Given the description of an element on the screen output the (x, y) to click on. 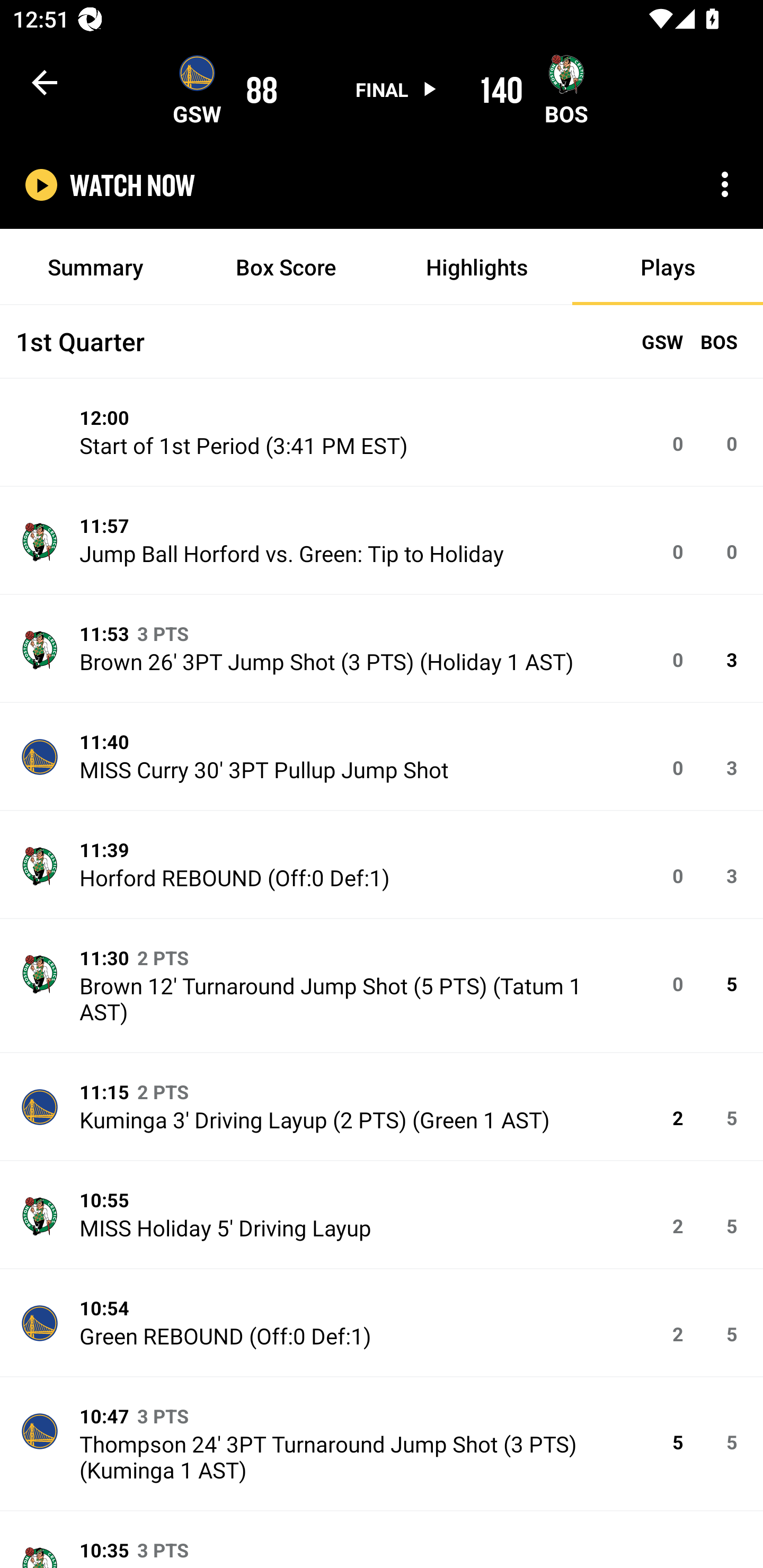
Navigate up (44, 82)
More options (724, 183)
WATCH NOW (132, 184)
Summary (95, 266)
Box Score (285, 266)
Highlights (476, 266)
